Given the description of an element on the screen output the (x, y) to click on. 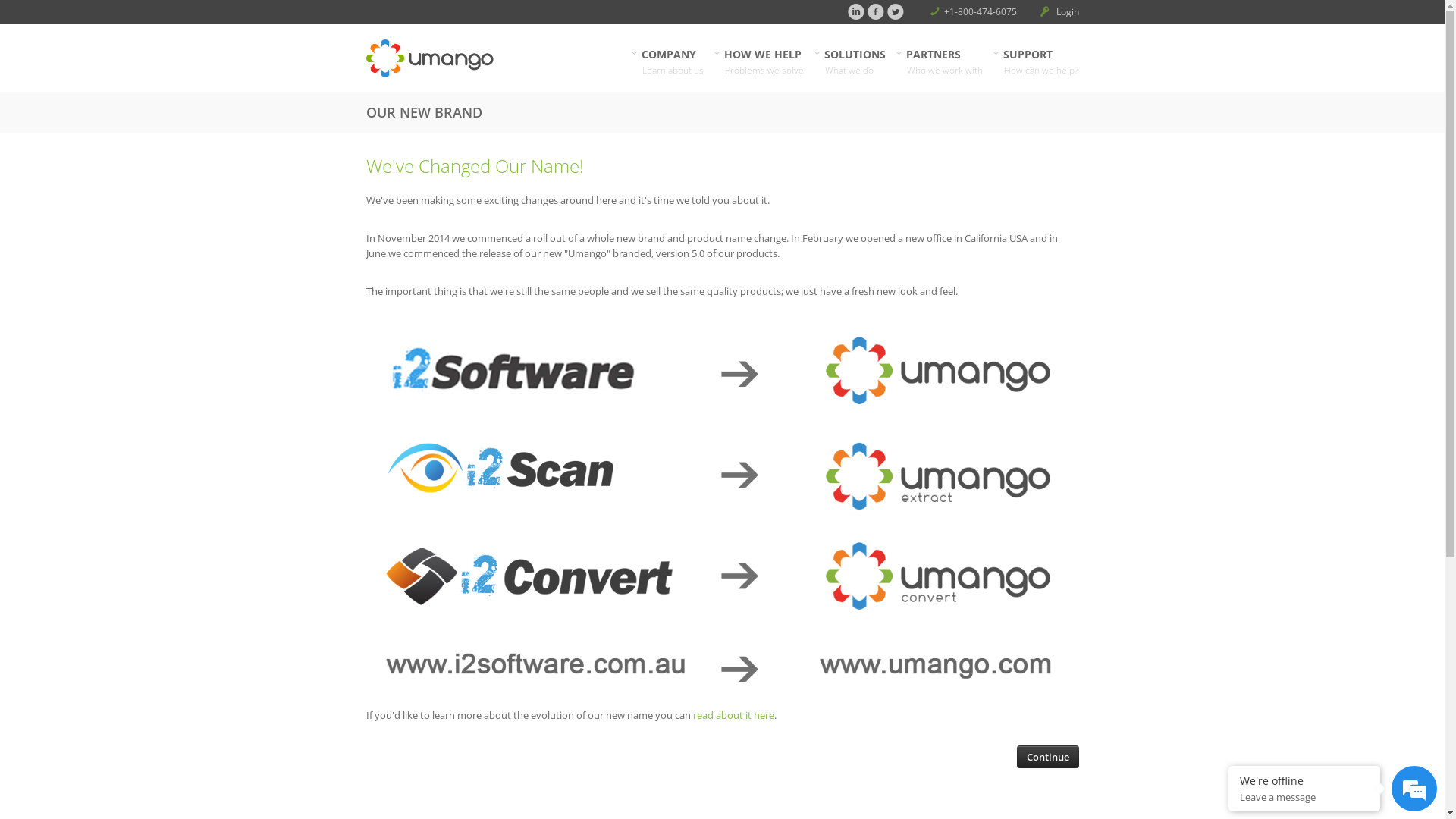
read about it here Element type: text (733, 714)
HOW WE HELP
Problems we solve Element type: text (763, 69)
Home Element type: hover (479, 58)
COMPANY
Learn about us Element type: text (672, 69)
SUPPORT
How can we help? Element type: text (1041, 69)
PARTNERS
Who we work with Element type: text (944, 69)
Login Element type: text (1066, 11)
SOLUTIONS
What we do Element type: text (855, 69)
+1-800-474-6075 Element type: text (979, 11)
Continue Element type: text (1047, 756)
